Given the description of an element on the screen output the (x, y) to click on. 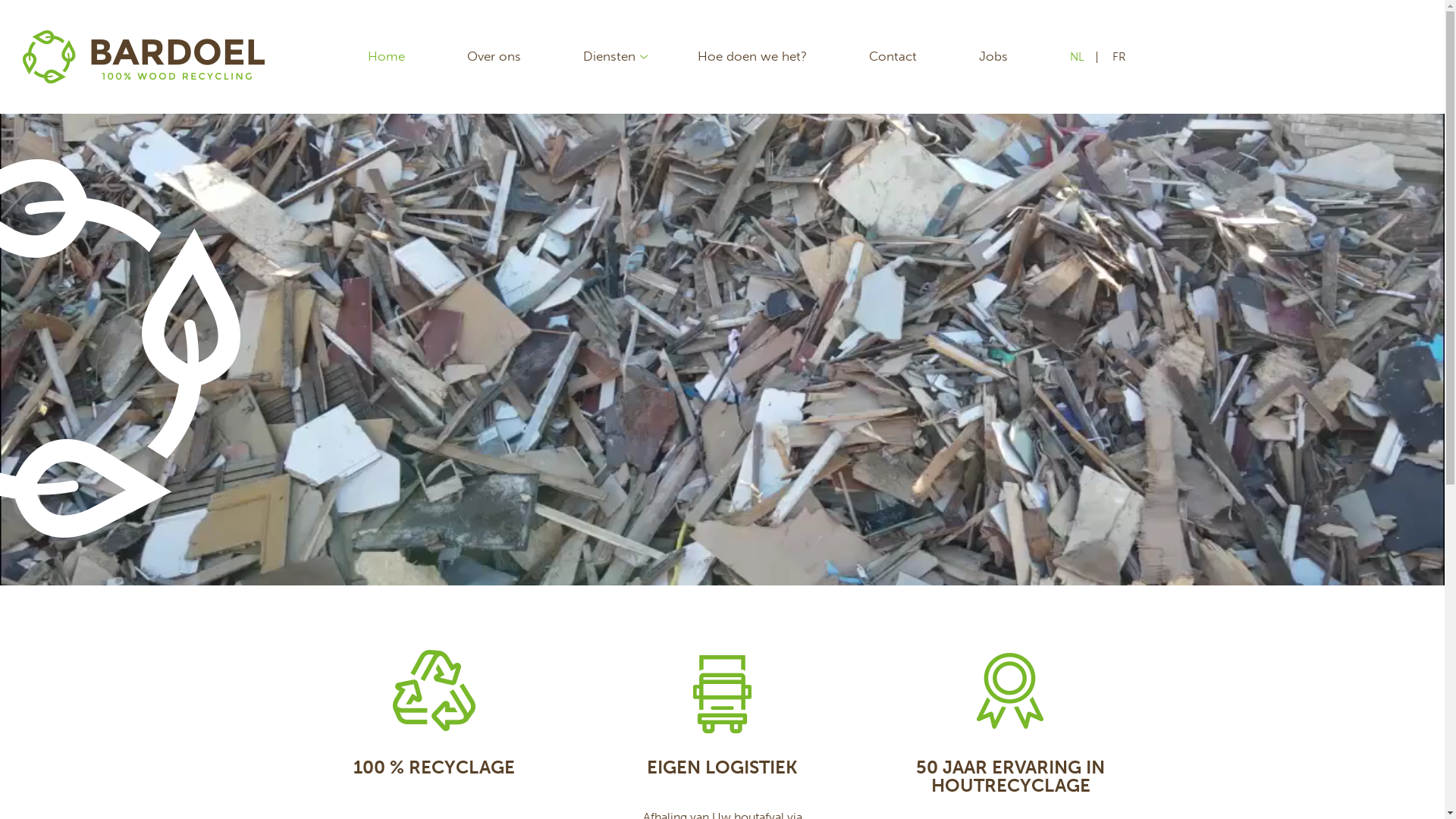
4134 - 218-19 Element type: hover (722, 349)
Home Element type: text (386, 56)
Contact Element type: text (892, 56)
Diensten Element type: text (609, 56)
FR Element type: text (1118, 56)
NL Element type: text (1077, 56)
Over ons Element type: text (494, 56)
Jobs Element type: text (992, 56)
Hoe doen we het? Element type: text (752, 56)
